Given the description of an element on the screen output the (x, y) to click on. 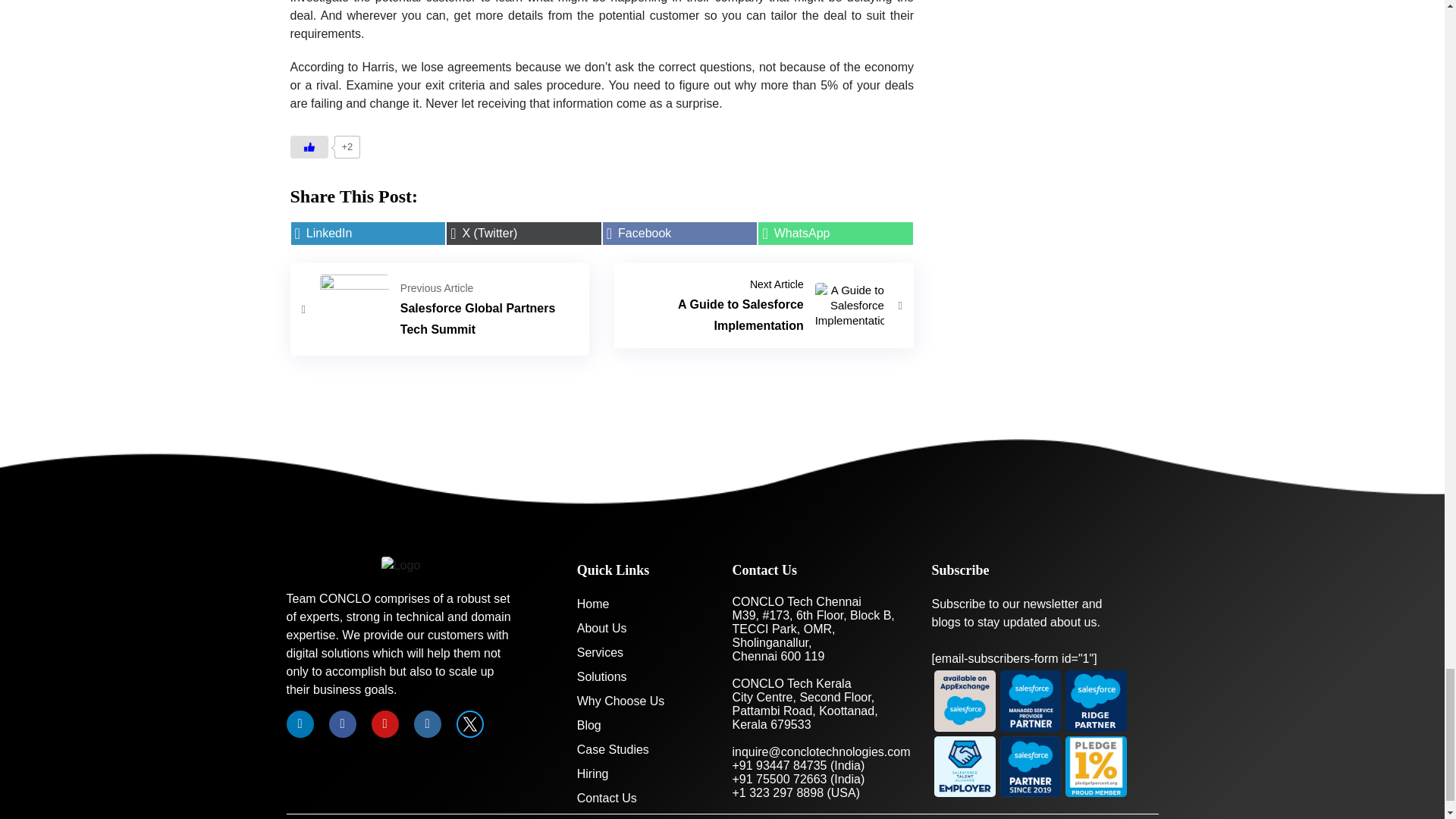
A Guide to Salesforce Implementation (764, 305)
Facebook (764, 305)
Salesforce Global Partners Tech Summit 2022 (680, 233)
LinkedIn (439, 308)
WhatsApp (439, 308)
